Given the description of an element on the screen output the (x, y) to click on. 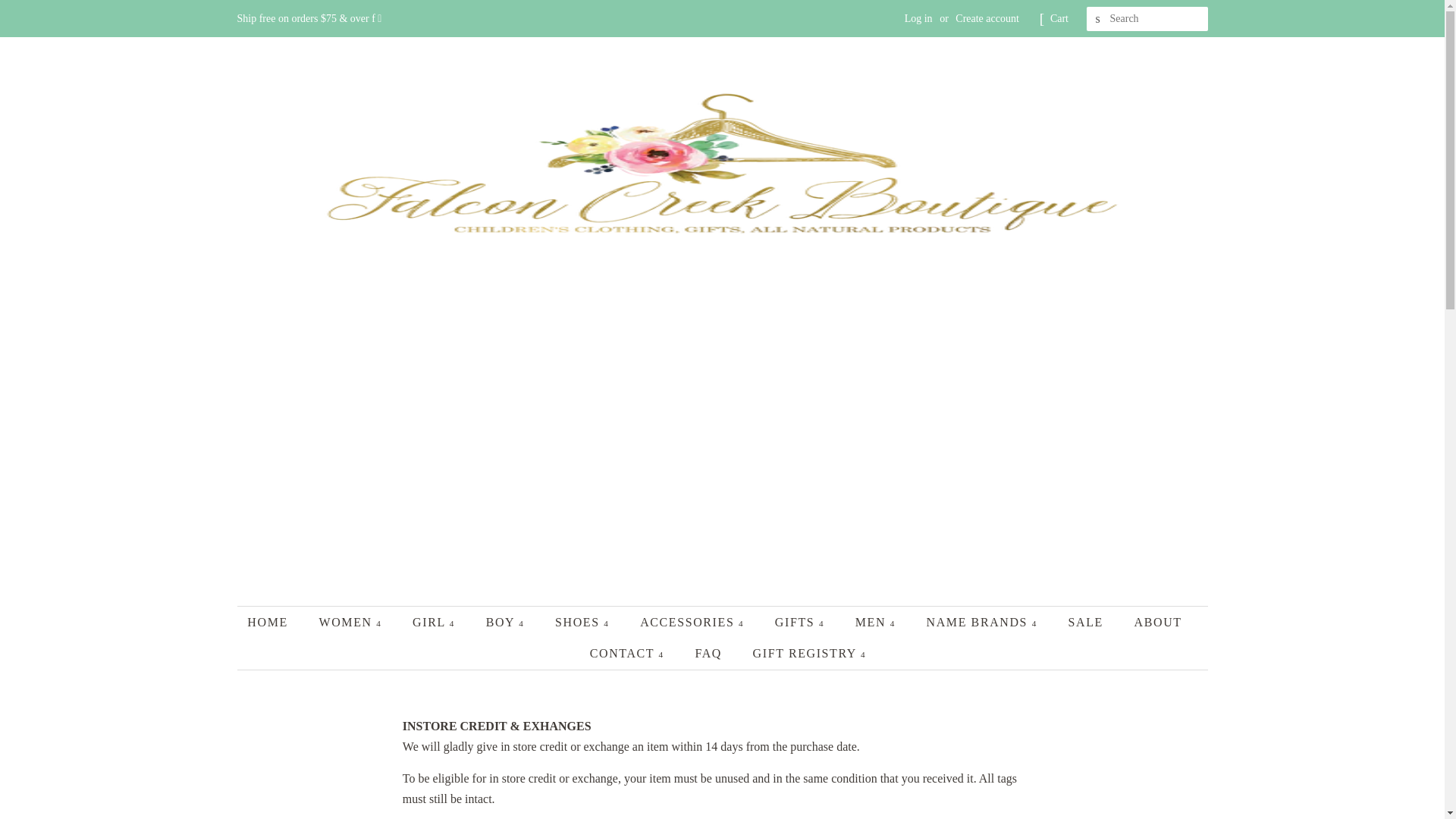
SEARCH (1097, 18)
Cart (1058, 18)
Create account (987, 18)
Log in (918, 18)
